Given the description of an element on the screen output the (x, y) to click on. 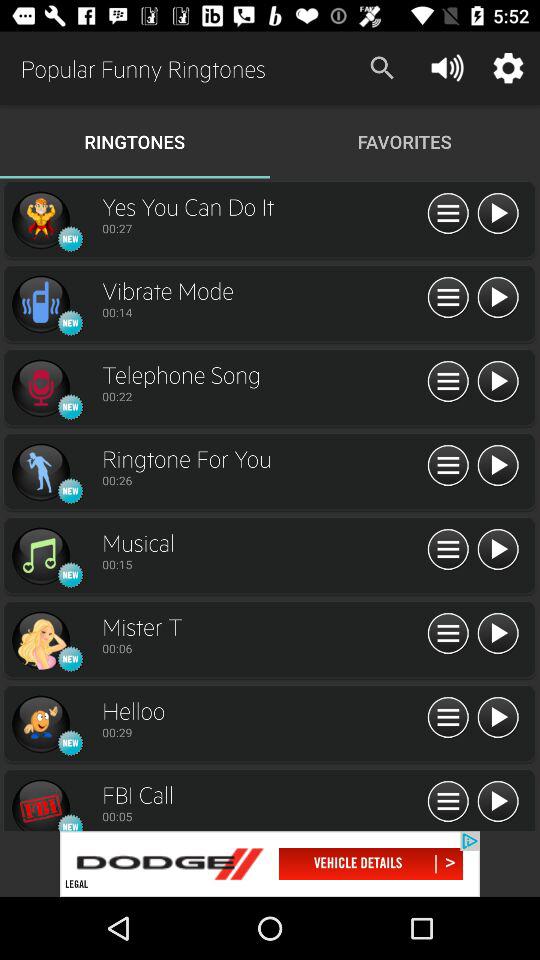
menu (497, 549)
